Given the description of an element on the screen output the (x, y) to click on. 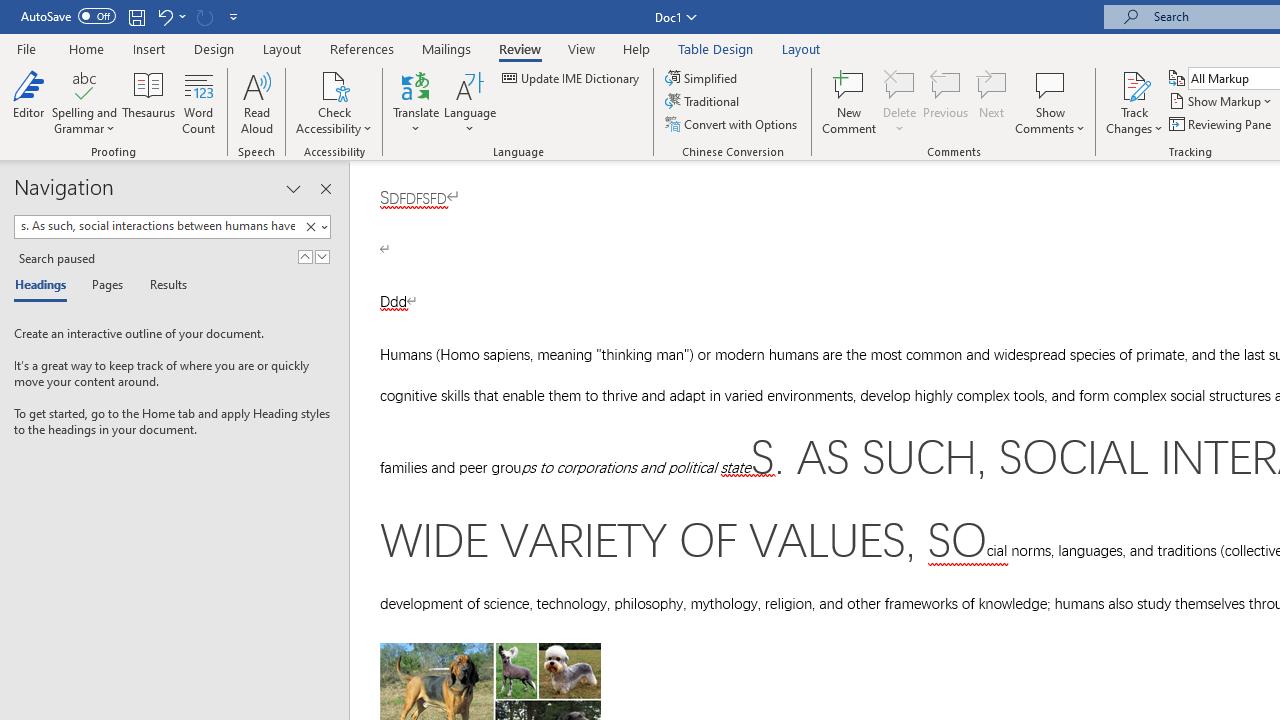
Spelling and Grammar (84, 102)
Pages (105, 285)
Track Changes (1134, 102)
Clear (310, 227)
Word Count (198, 102)
Undo Style (170, 15)
Clear (314, 227)
